Given the description of an element on the screen output the (x, y) to click on. 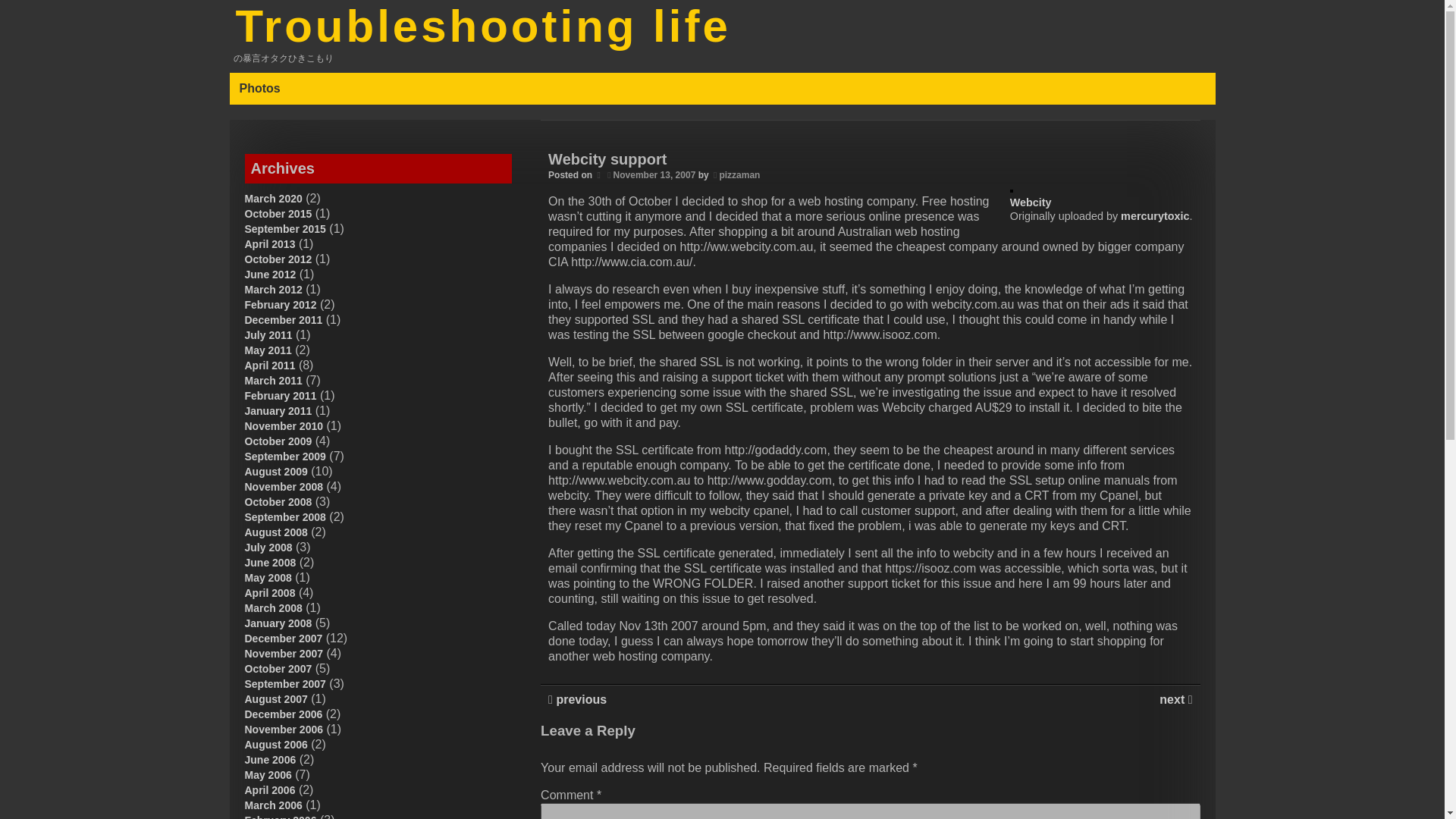
September 2015 (284, 228)
March 2012 (272, 289)
May 2011 (267, 349)
pizzaman (739, 174)
next (1173, 698)
February 2011 (279, 395)
September 2009 (284, 456)
October 2012 (277, 259)
April 2011 (269, 365)
July 2008 (268, 547)
